Given the description of an element on the screen output the (x, y) to click on. 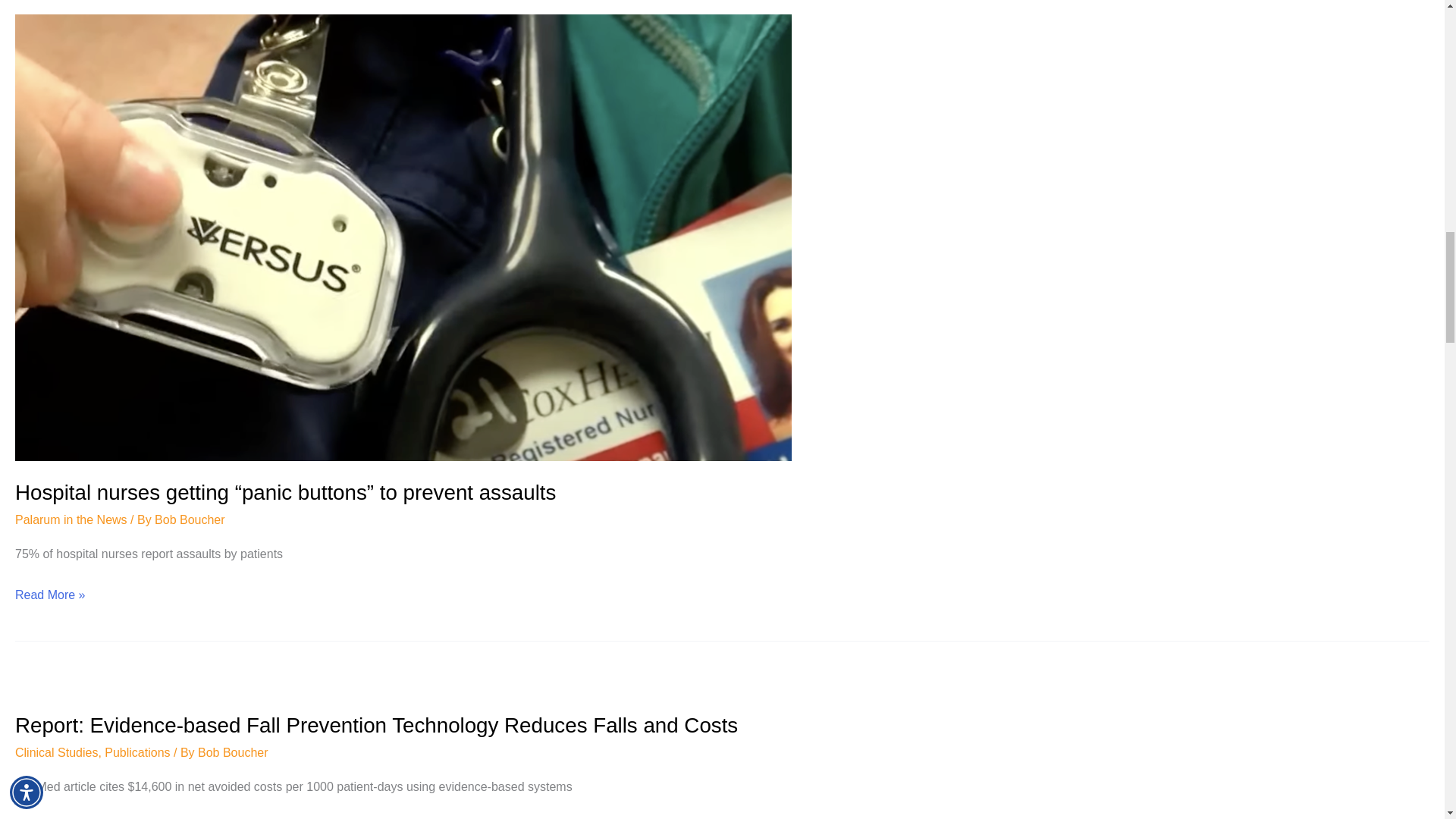
View all posts by Bob Boucher (232, 752)
View all posts by Bob Boucher (189, 519)
